Given the description of an element on the screen output the (x, y) to click on. 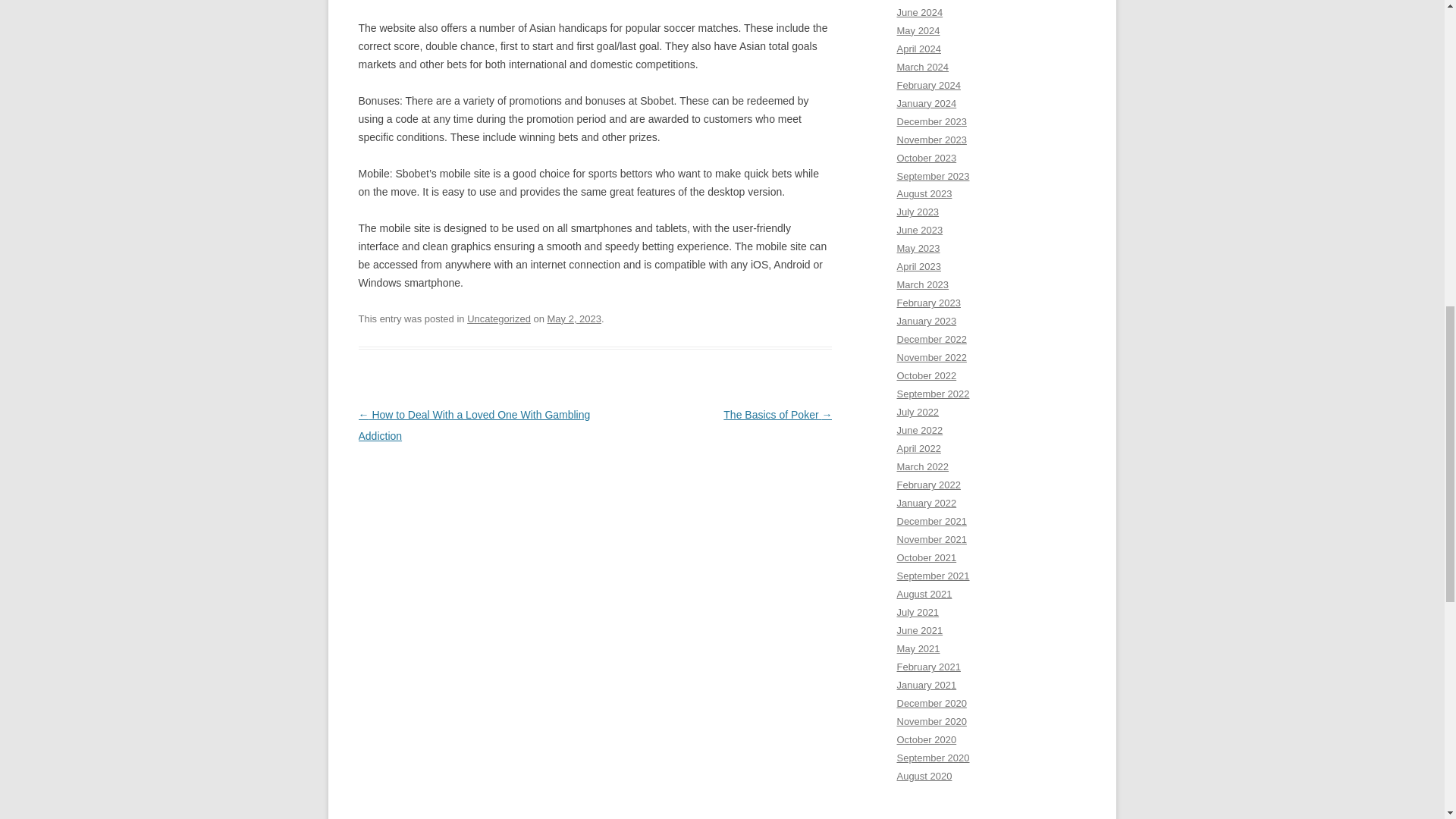
April 2024 (918, 48)
August 2023 (924, 193)
June 2024 (919, 12)
February 2024 (927, 84)
January 2024 (926, 102)
May 2024 (917, 30)
May 2, 2023 (574, 318)
December 2023 (931, 121)
Uncategorized (499, 318)
July 2023 (917, 211)
